Given the description of an element on the screen output the (x, y) to click on. 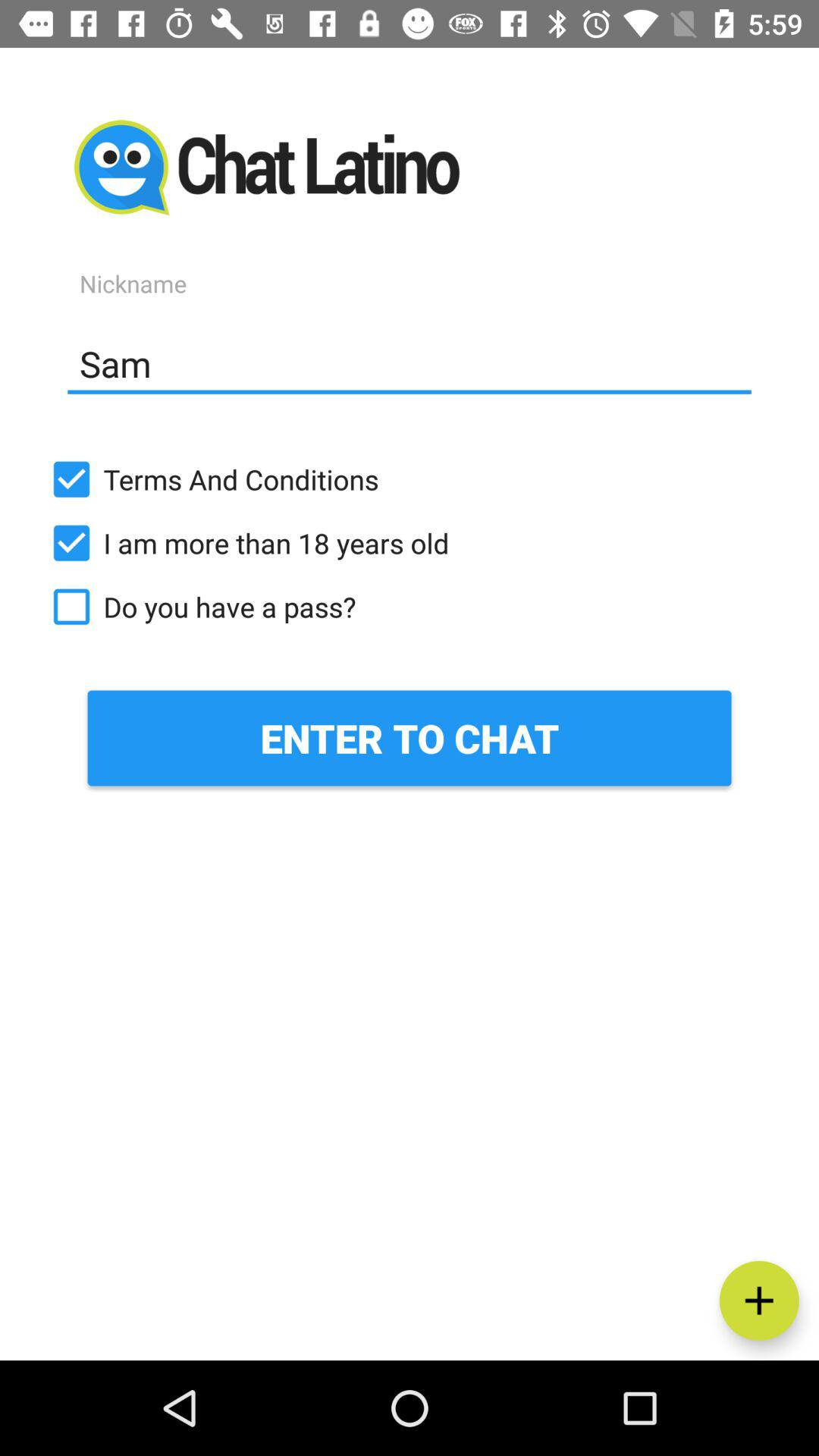
turn off item above terms and conditions icon (409, 363)
